Given the description of an element on the screen output the (x, y) to click on. 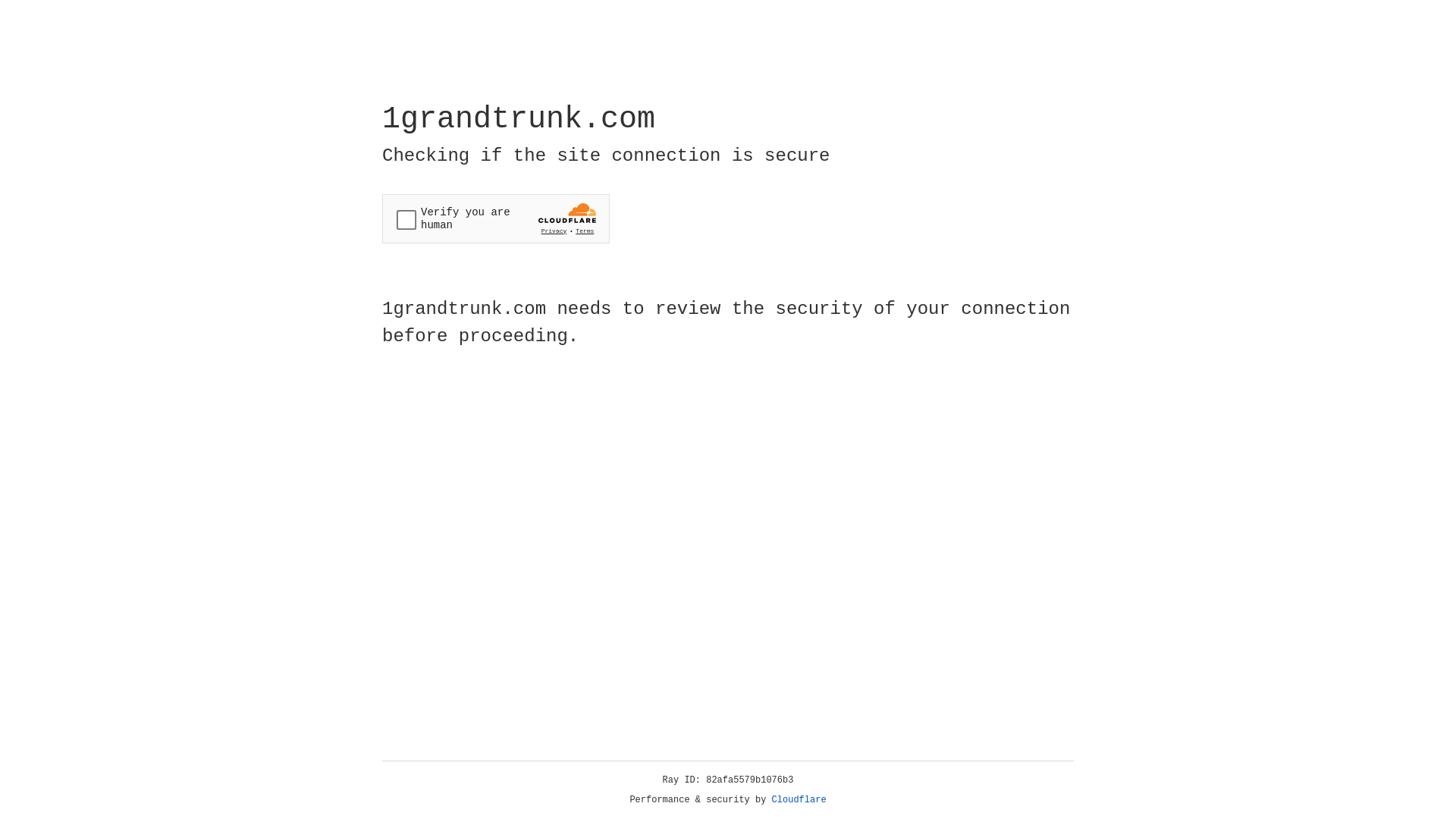
Cloudflare Element type: text (798, 799)
Widget containing a Cloudflare security challenge Element type: hover (495, 218)
